Given the description of an element on the screen output the (x, y) to click on. 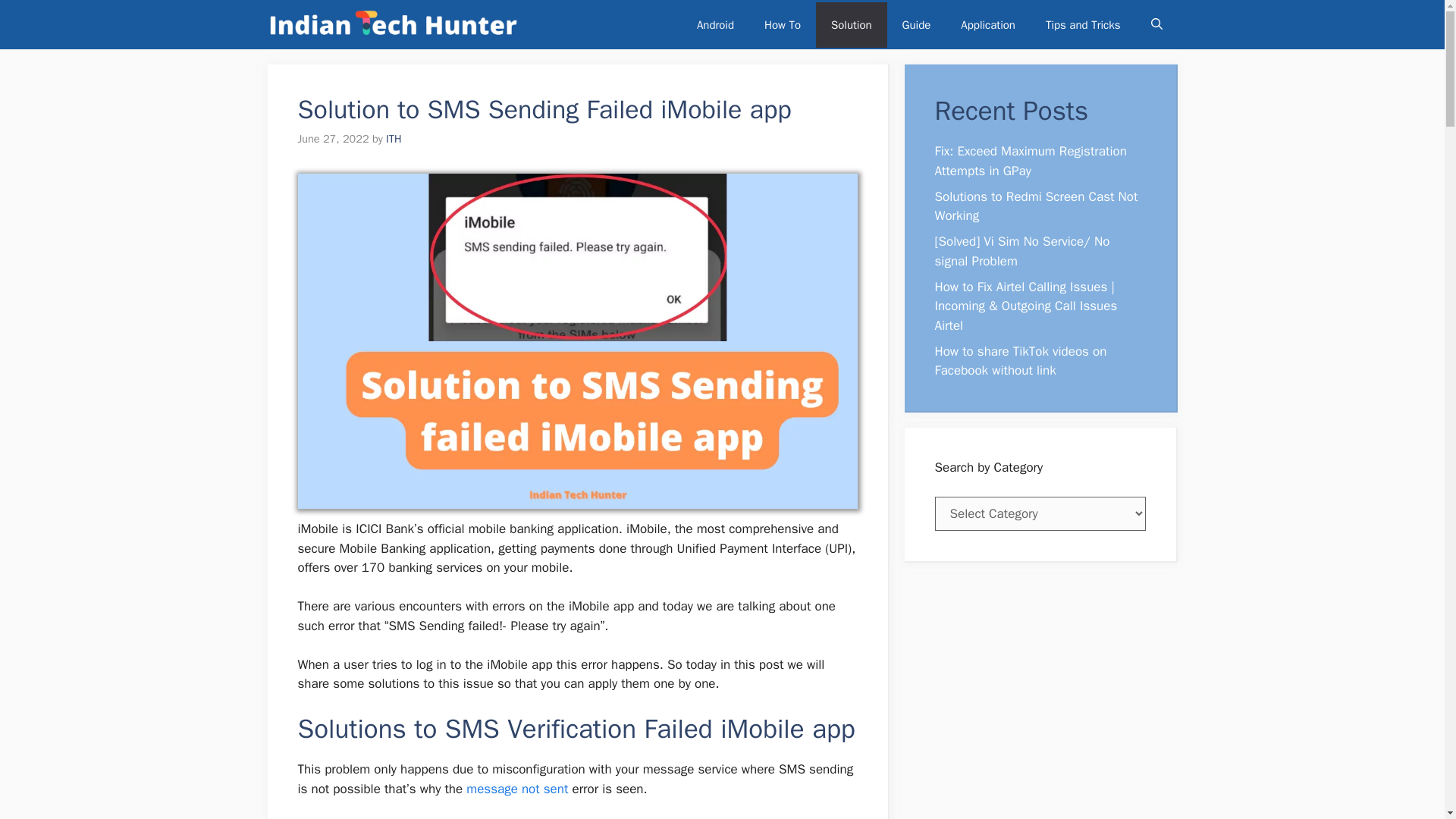
How To (782, 23)
Tips and Tricks (1082, 23)
Application (987, 23)
Guide (916, 23)
View all posts by ITH (393, 138)
Indian Tech Hunter (392, 24)
message not sent (516, 788)
Solution (850, 23)
ITH (393, 138)
Android (715, 23)
